Given the description of an element on the screen output the (x, y) to click on. 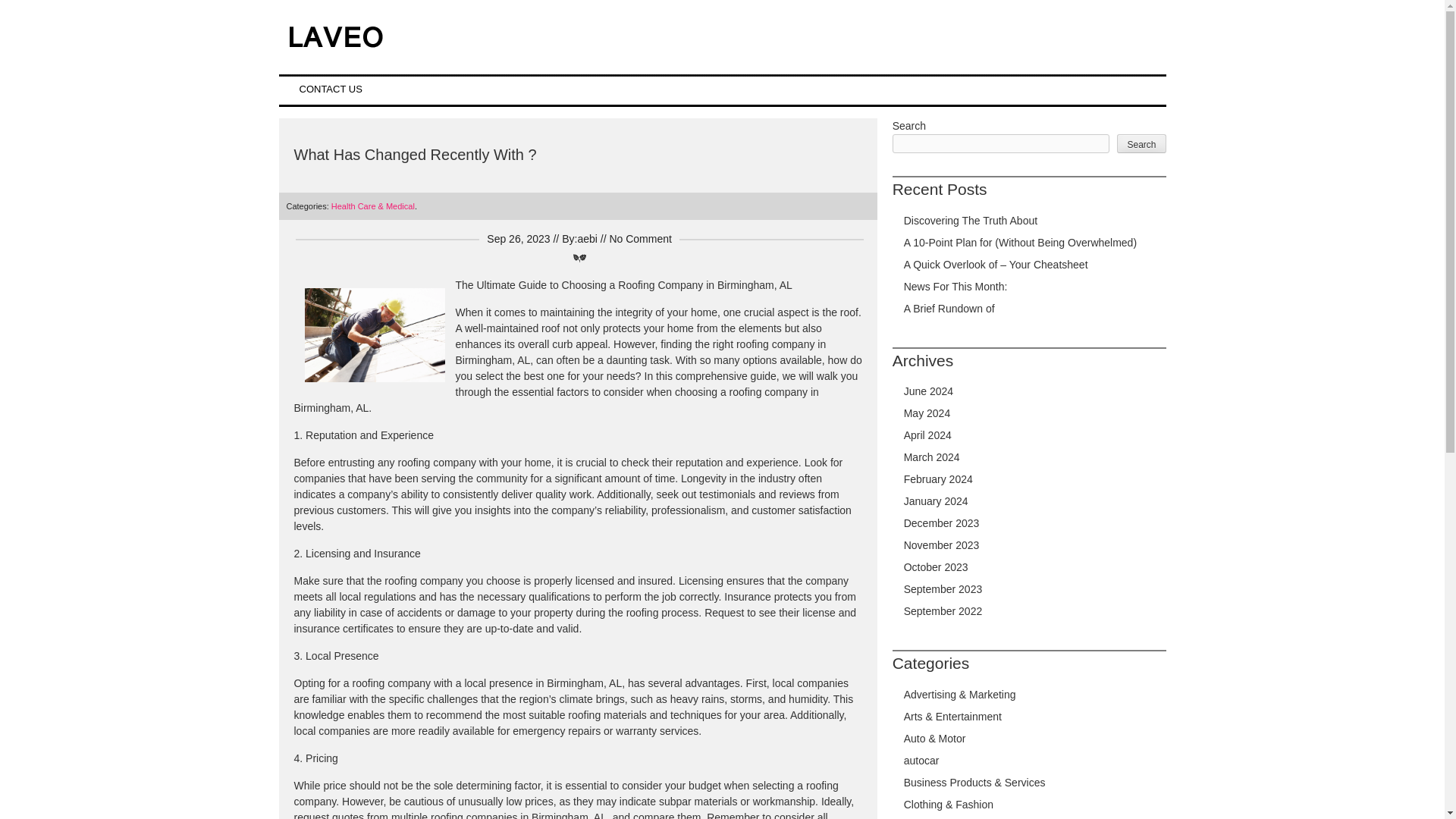
December 2023 (941, 522)
November 2023 (941, 544)
Search (1141, 143)
News For This Month: (955, 286)
January 2024 (936, 500)
March 2024 (931, 457)
autocar (921, 760)
April 2024 (928, 435)
September 2022 (943, 611)
September 2023 (943, 589)
June 2024 (928, 390)
October 2023 (936, 567)
A Brief Rundown of (949, 308)
May 2024 (927, 413)
Discovering The Truth About (970, 220)
